Given the description of an element on the screen output the (x, y) to click on. 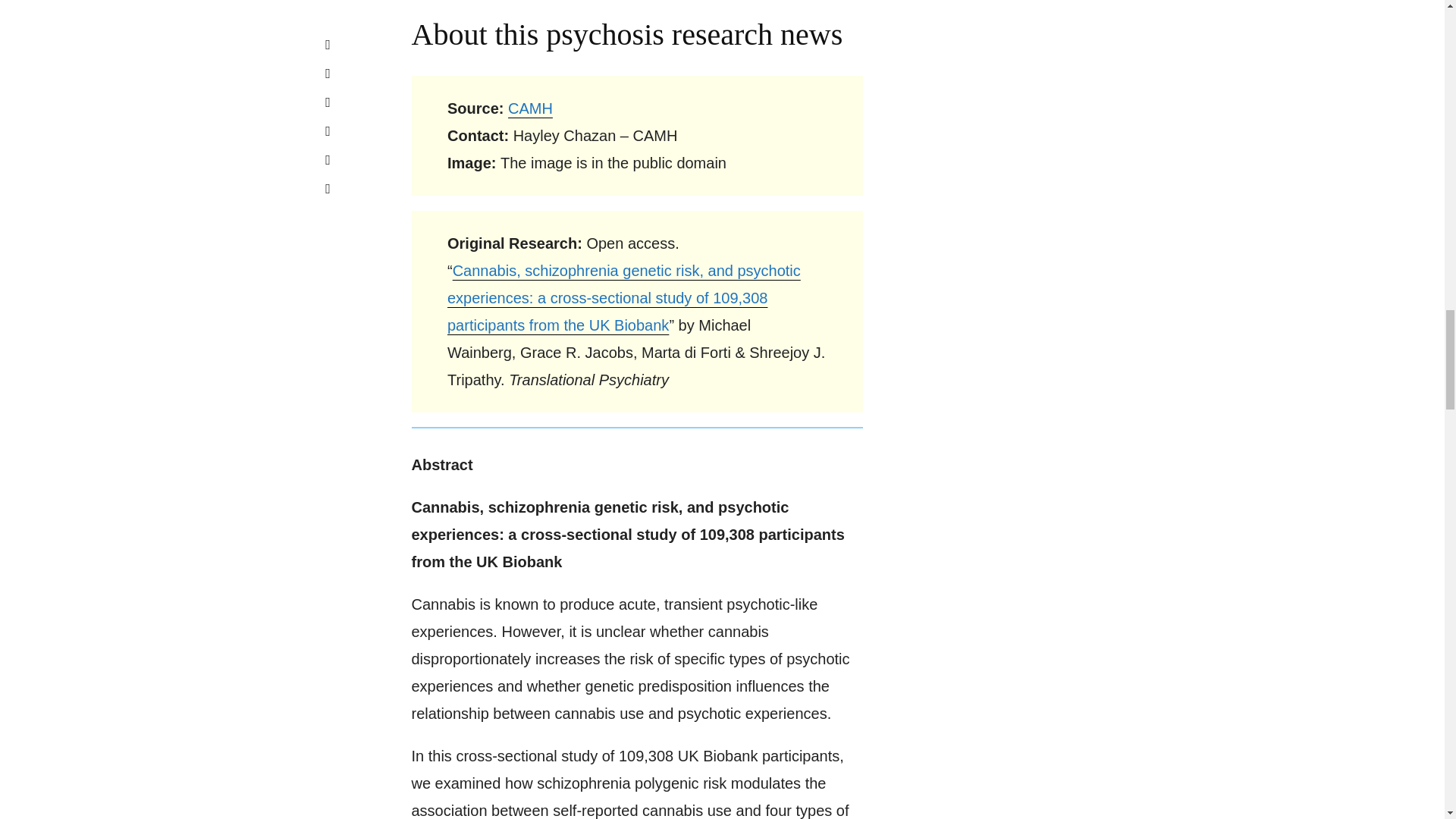
CAMH (530, 108)
